Given the description of an element on the screen output the (x, y) to click on. 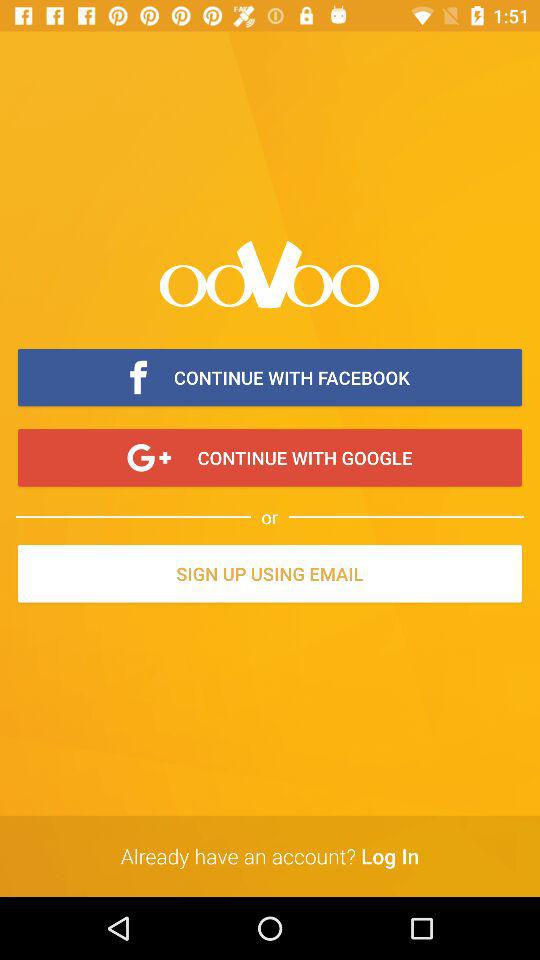
open the icon above already have an item (269, 575)
